Given the description of an element on the screen output the (x, y) to click on. 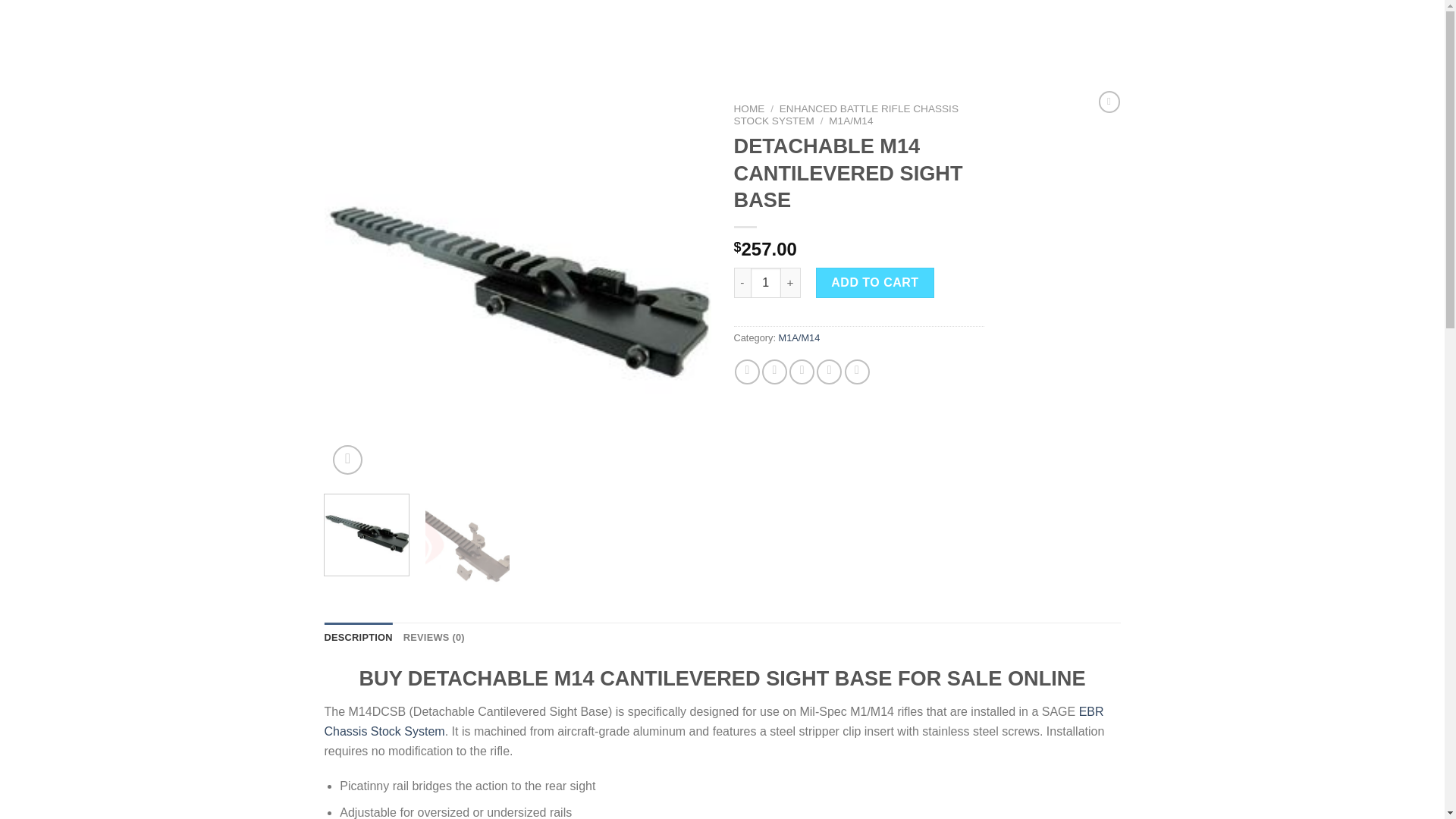
CHECKOUT (354, 32)
SHOP (262, 32)
LOGIN (1304, 32)
HOME (222, 32)
Share on LinkedIn (856, 371)
Cart (1387, 32)
HOME (749, 108)
Zoom (347, 460)
WISHLIST (417, 32)
Email to a Friend (801, 371)
Pin on Pinterest (828, 371)
Gun Stocks USA (87, 31)
CART (300, 32)
Share on Twitter (774, 371)
